Given the description of an element on the screen output the (x, y) to click on. 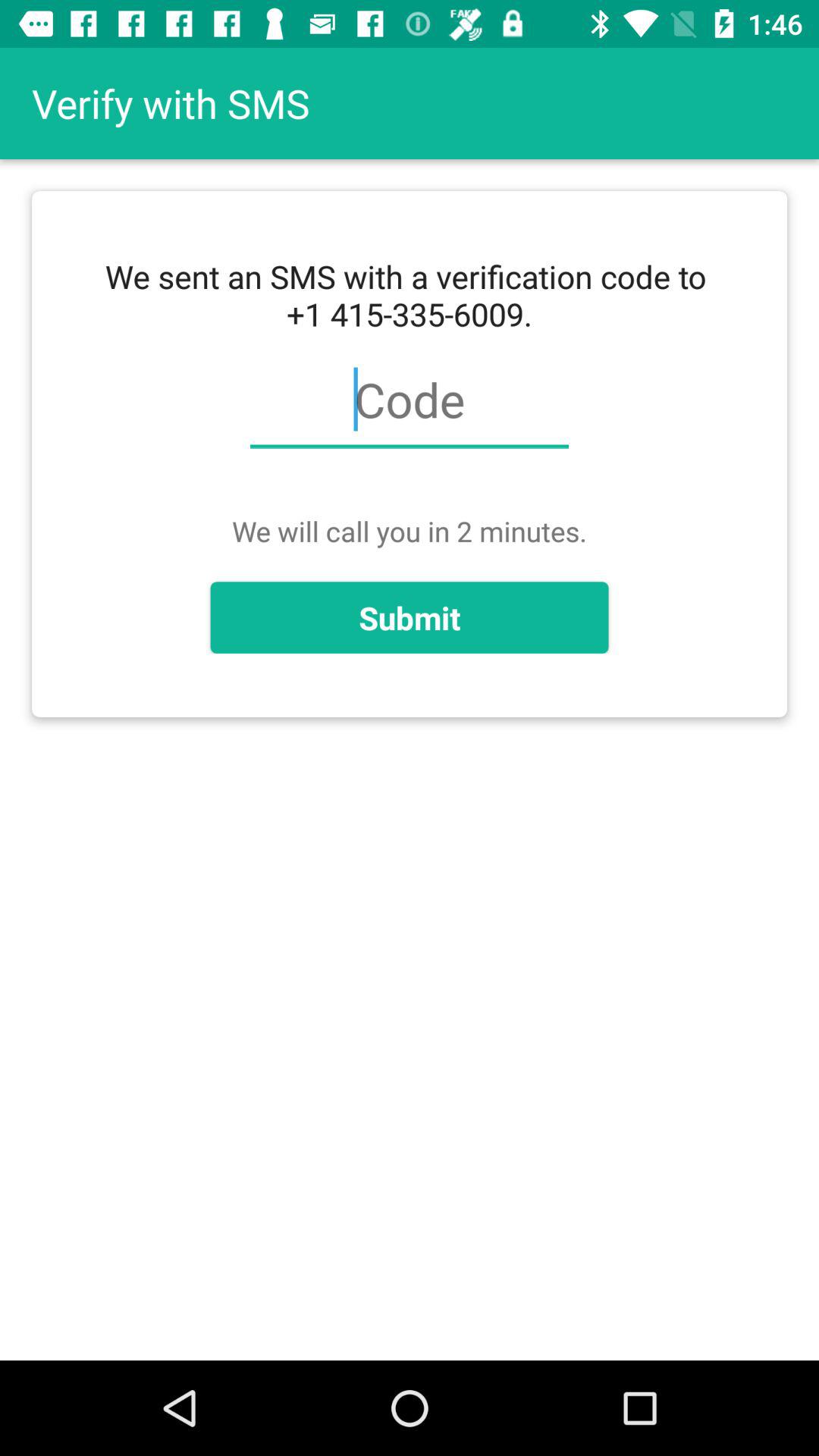
turn on item below we sent an item (409, 407)
